Given the description of an element on the screen output the (x, y) to click on. 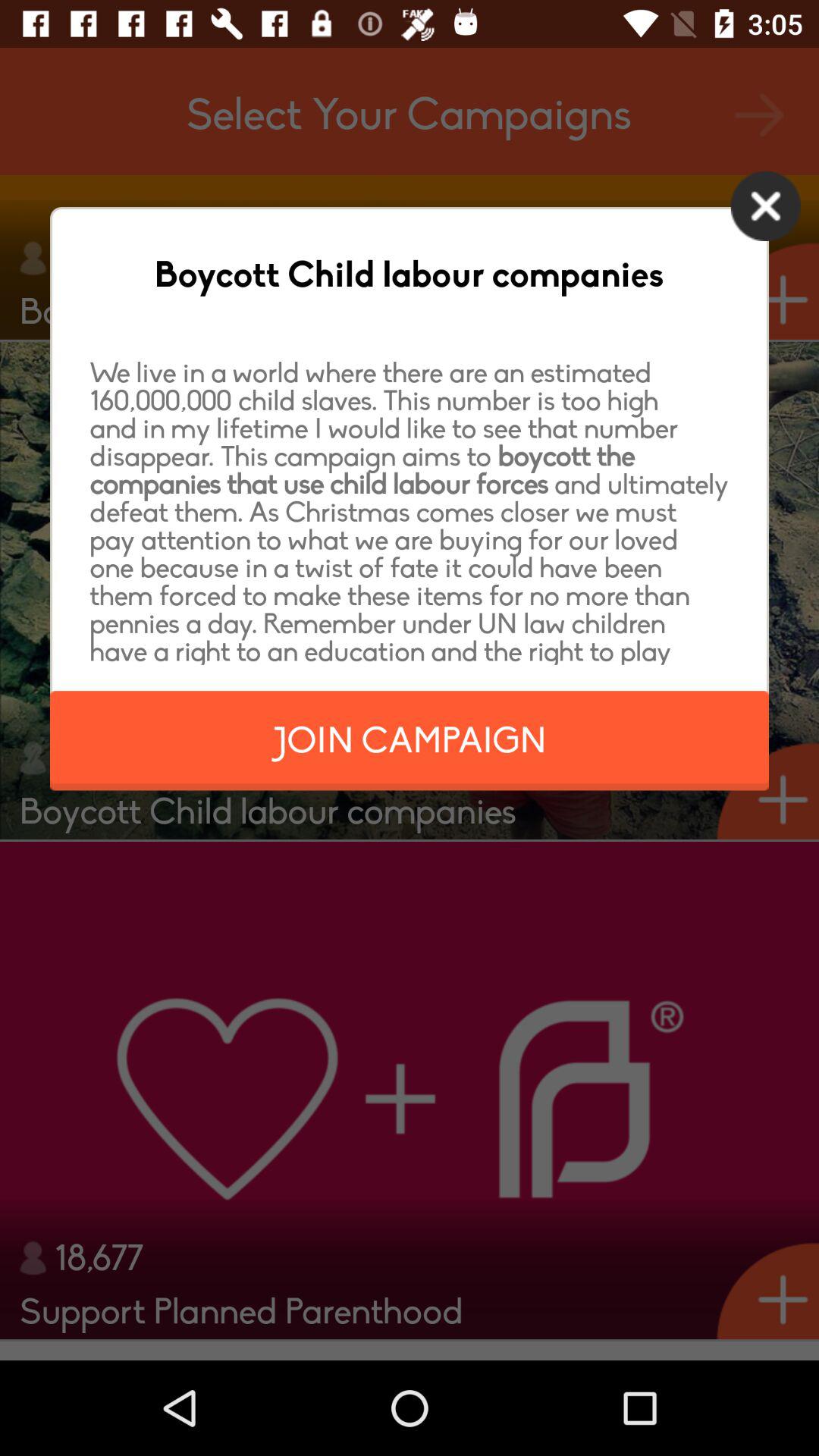
tap the icon above the we live in icon (765, 206)
